Given the description of an element on the screen output the (x, y) to click on. 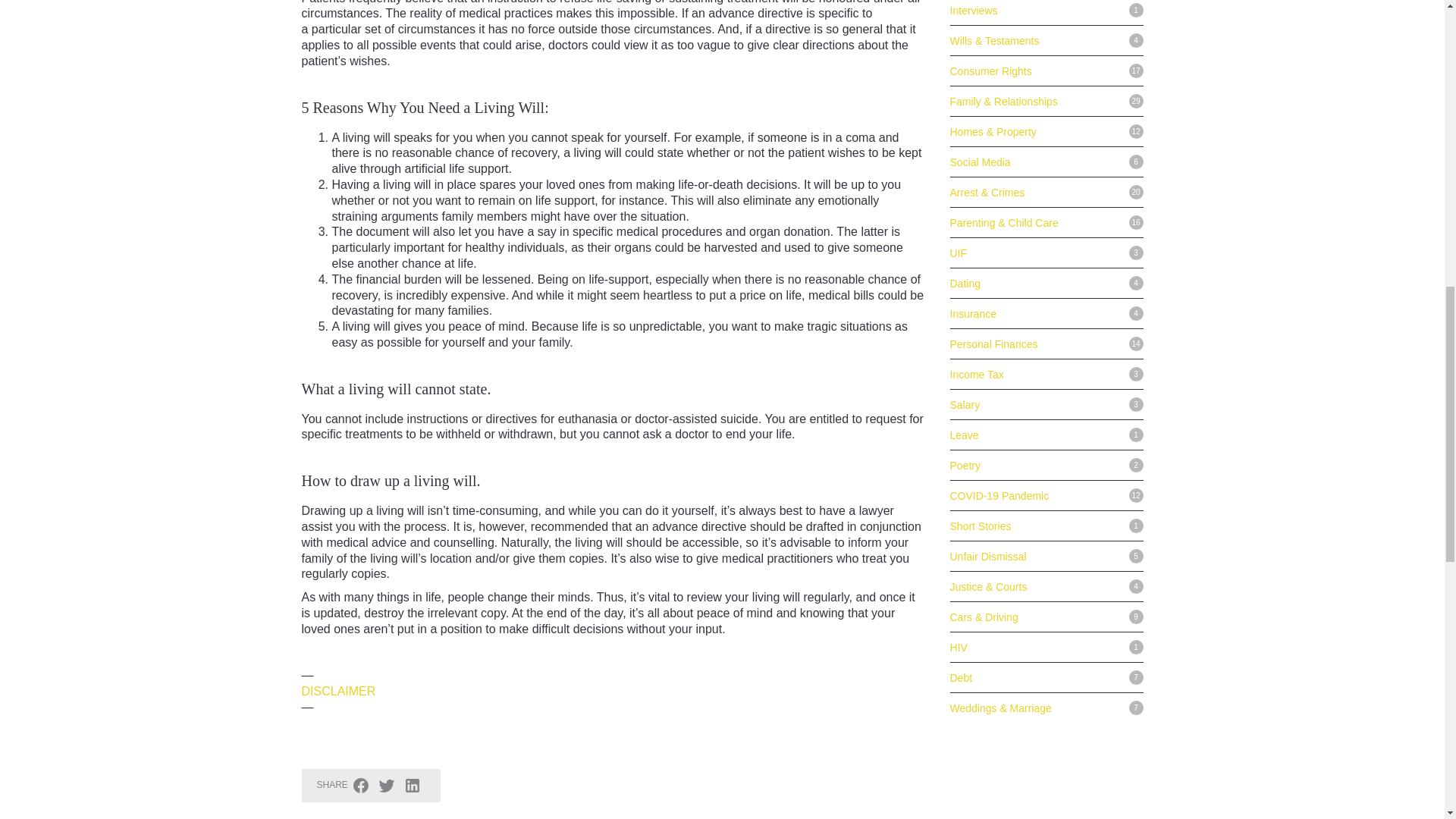
DISCLAIMER (338, 690)
Salary (964, 269)
Dating (964, 148)
Personal Finances (992, 209)
COVID-19 Pandemic (998, 360)
UIF (957, 118)
Insurance (972, 178)
Social Media (979, 27)
Income Tax (976, 239)
Poetry (964, 330)
